Given the description of an element on the screen output the (x, y) to click on. 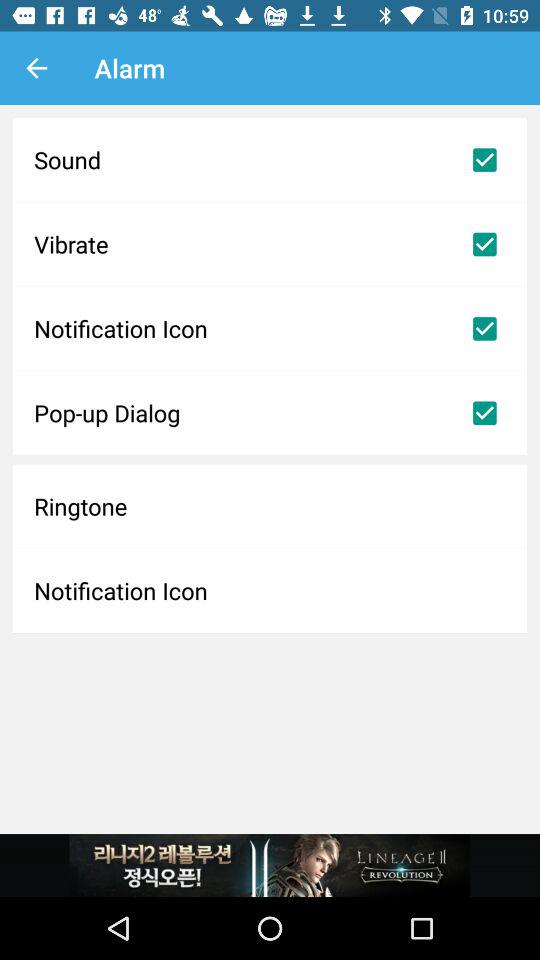
select the item above the sound (36, 68)
